Given the description of an element on the screen output the (x, y) to click on. 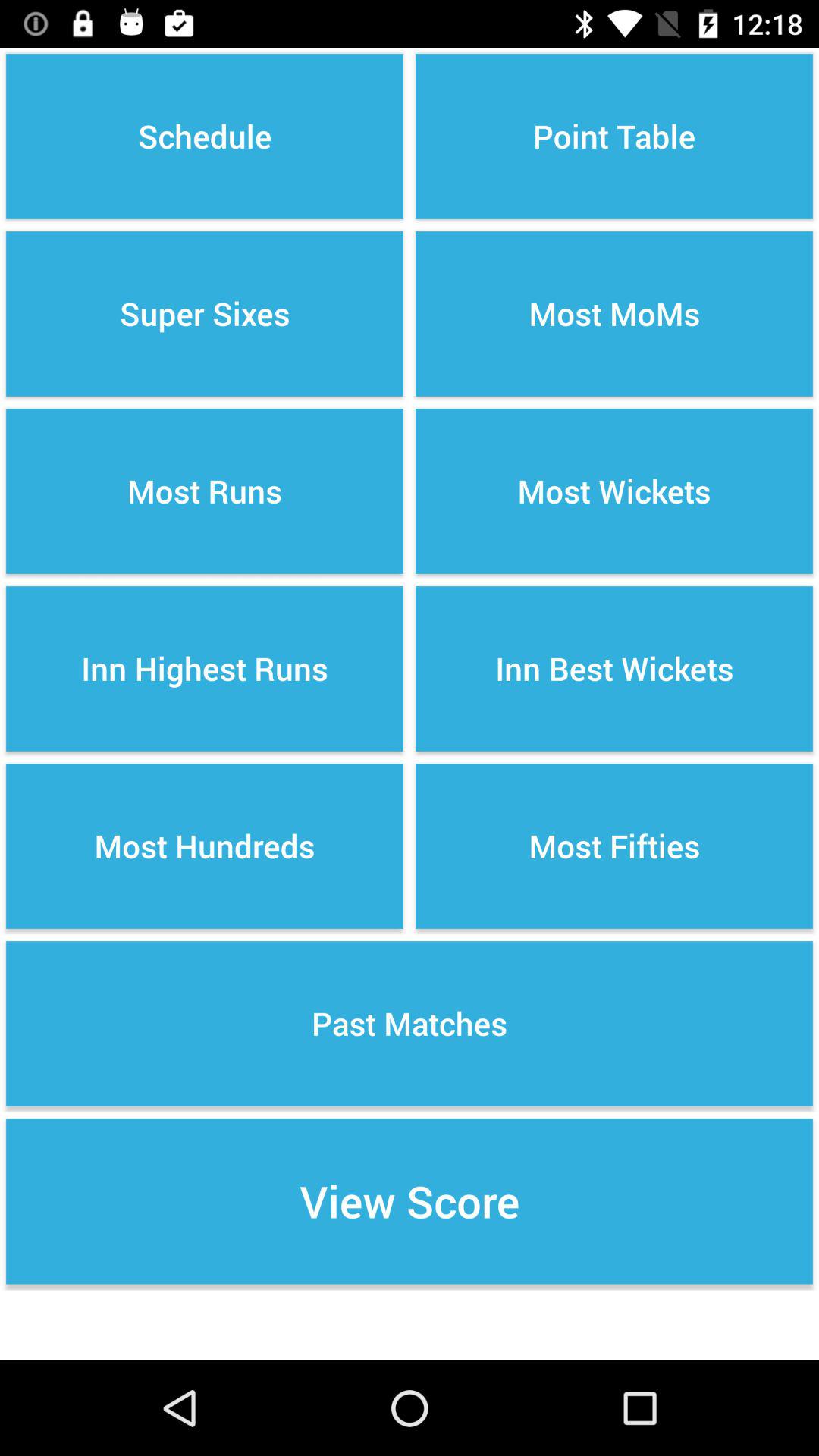
turn on item above the view score item (409, 1023)
